Given the description of an element on the screen output the (x, y) to click on. 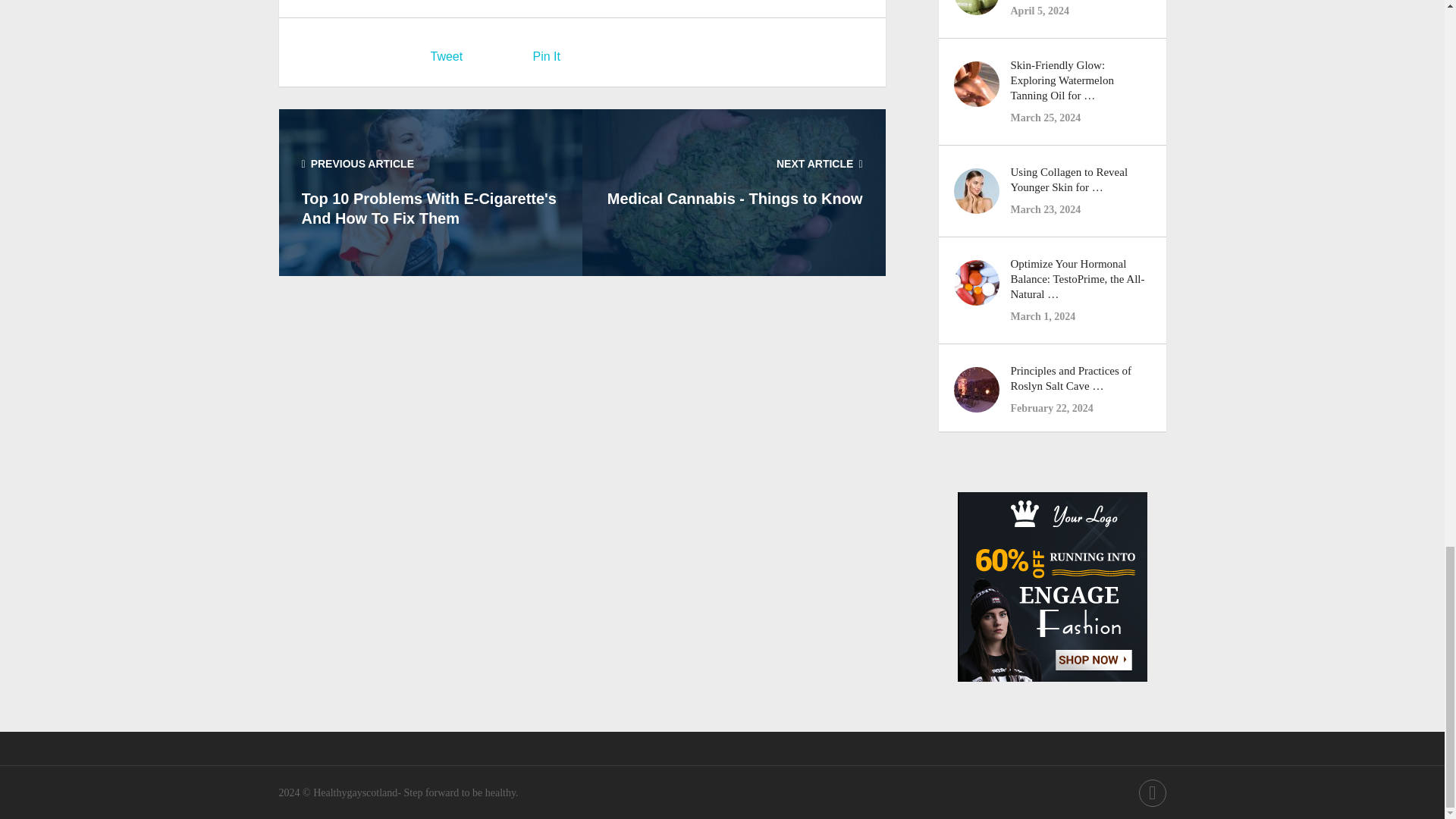
Pin It (545, 56)
Tweet (446, 56)
